Given the description of an element on the screen output the (x, y) to click on. 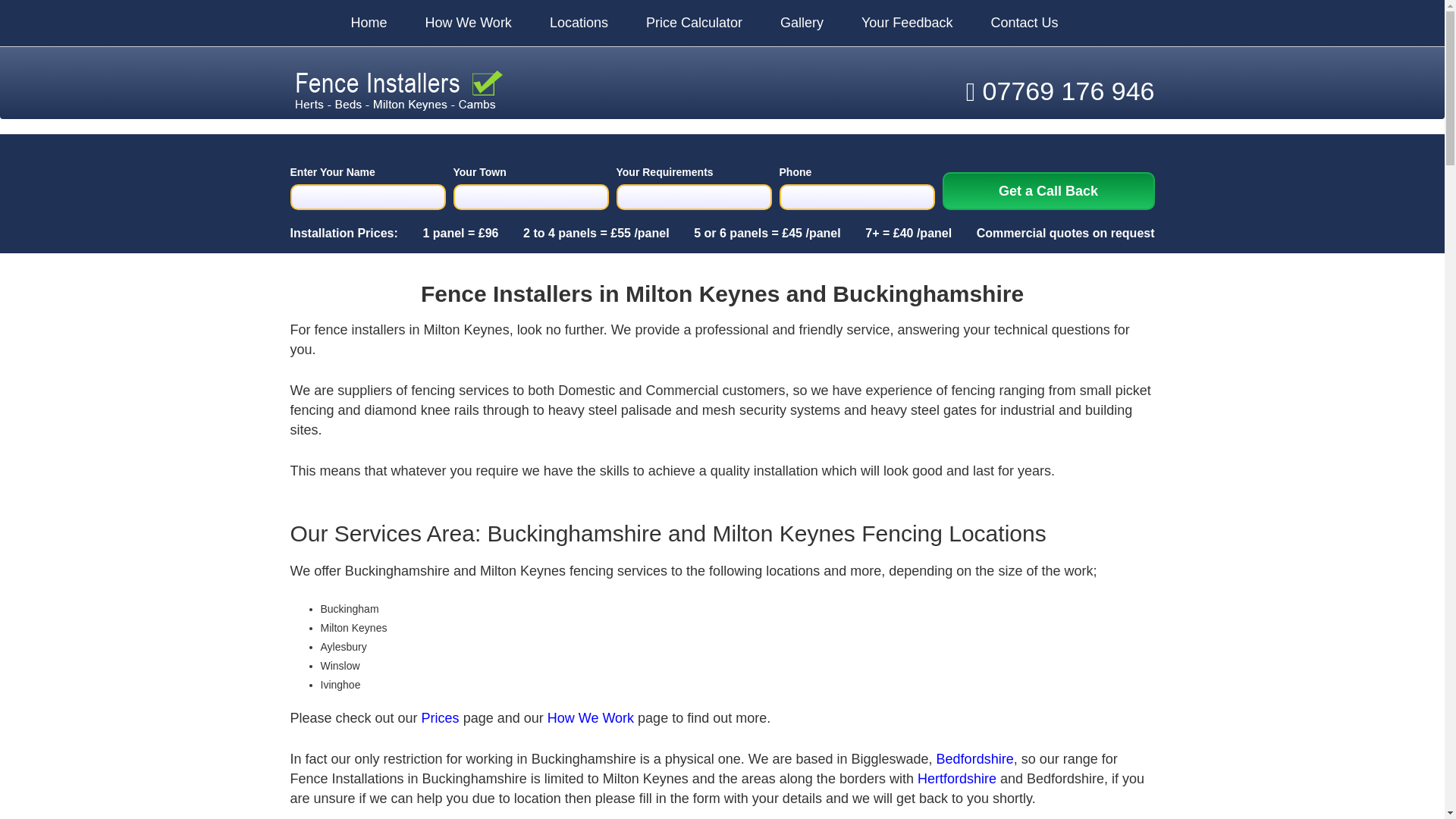
Contact Us (1005, 22)
How We Work (590, 717)
Price Calculator (675, 22)
Your Feedback (888, 22)
Get a Call Back (1048, 190)
How We Work (449, 22)
Bedfordshire (974, 758)
07769 176 946 (1060, 90)
Get a Call Back (1048, 190)
Hertfordshire (956, 778)
